Given the description of an element on the screen output the (x, y) to click on. 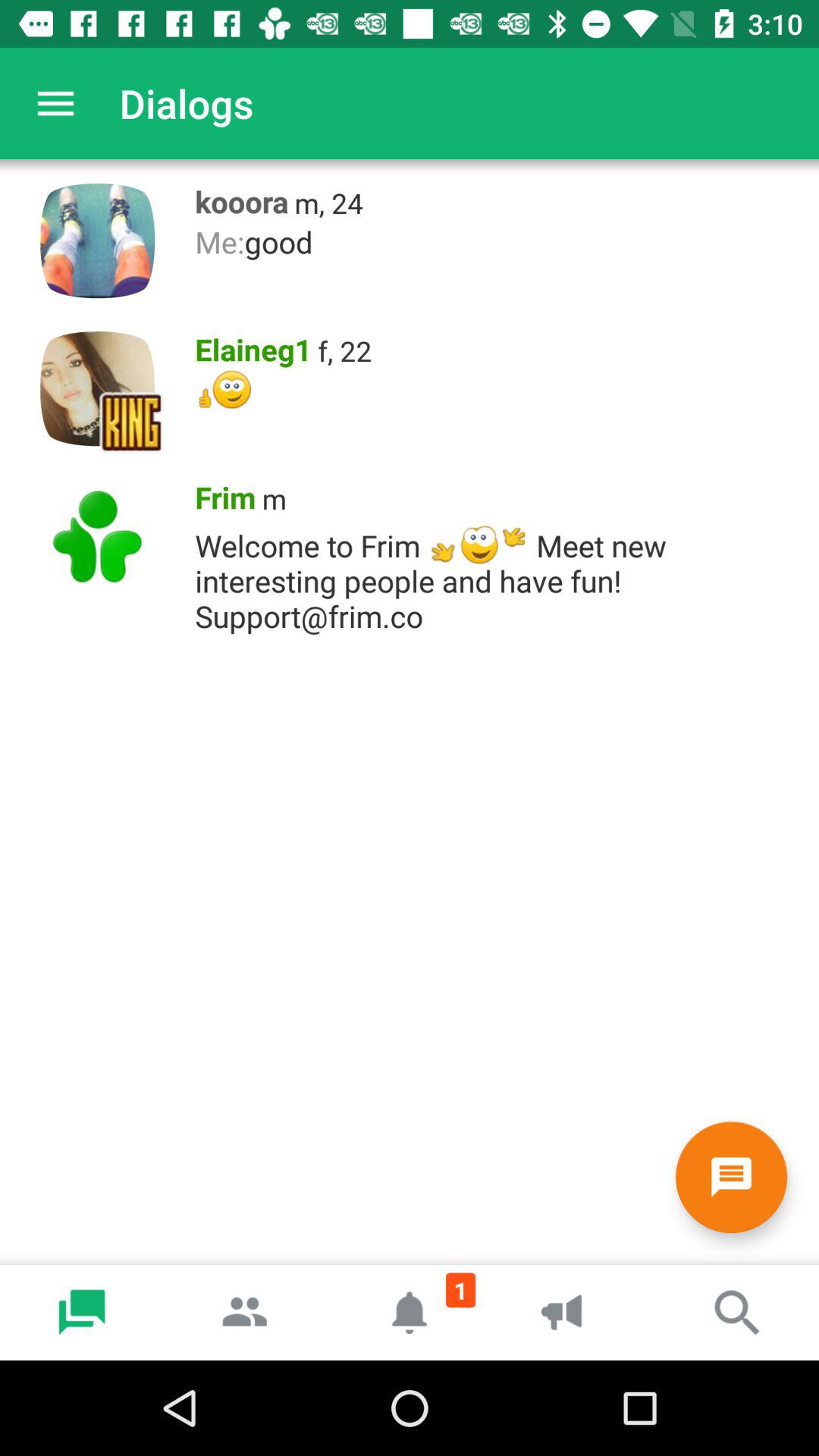
open icon next to the m, 24 (236, 198)
